Given the description of an element on the screen output the (x, y) to click on. 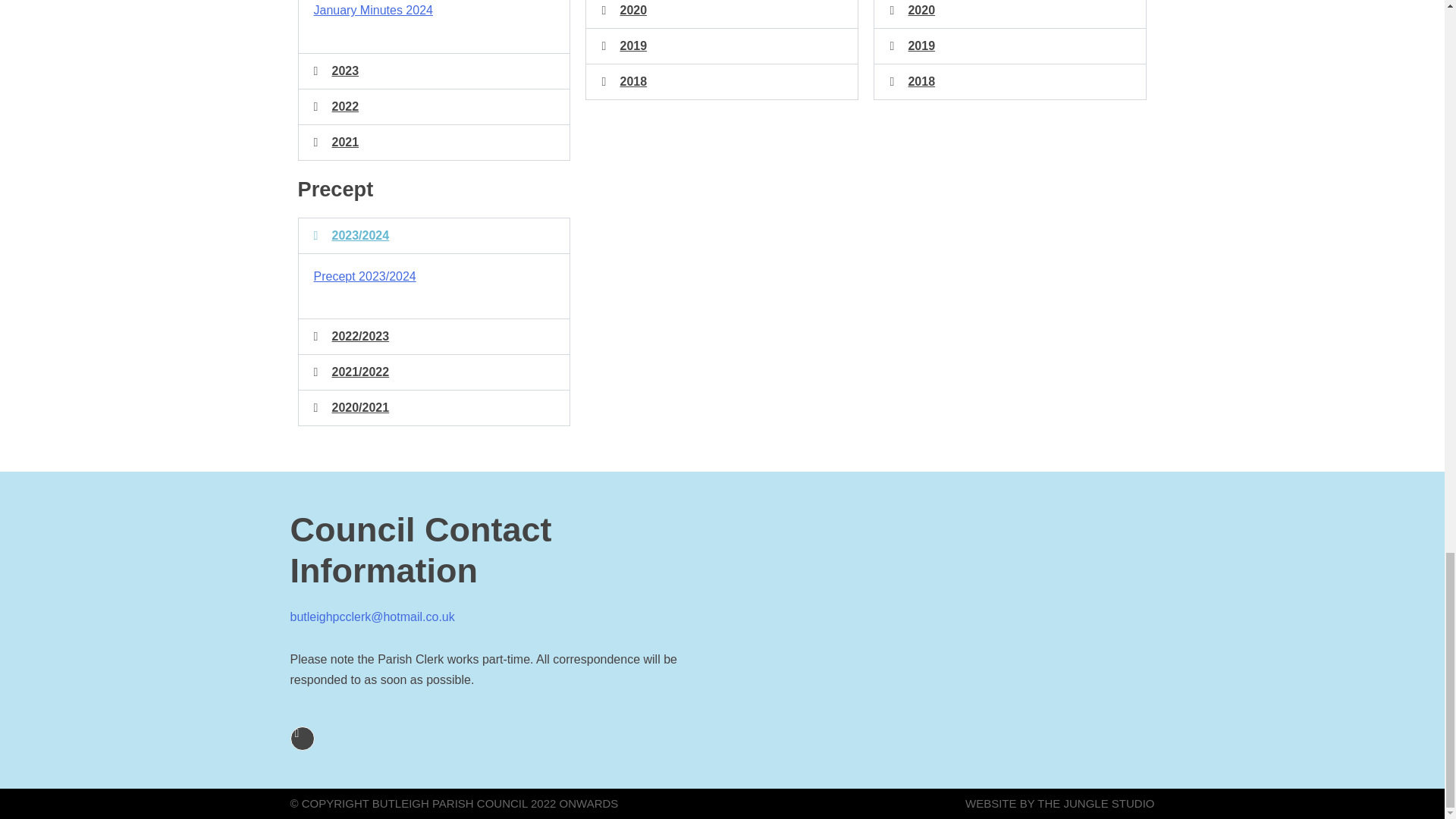
2023 (345, 70)
January Minutes 2024 (373, 10)
